Given the description of an element on the screen output the (x, y) to click on. 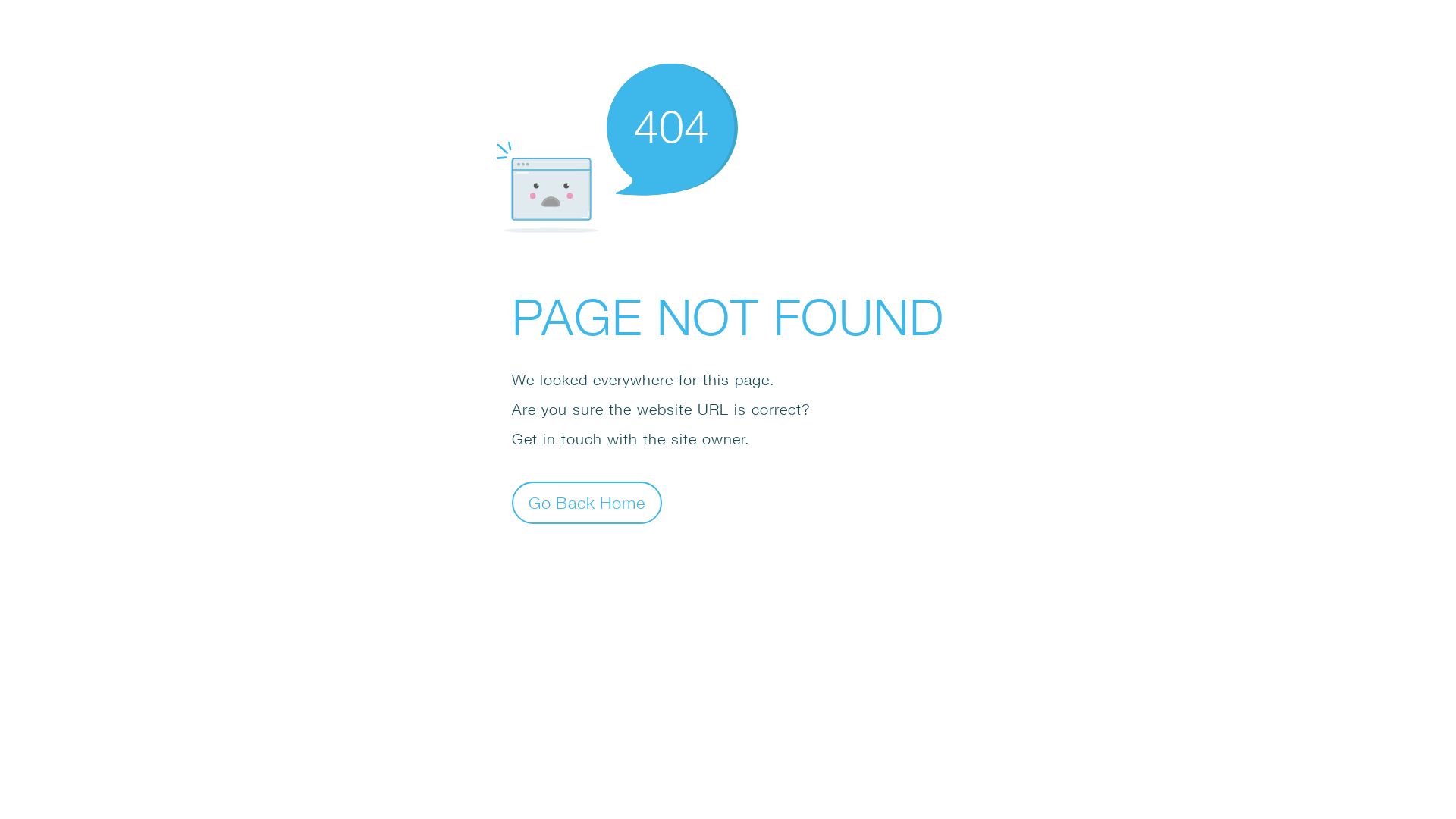
Go Back Home Element type: text (586, 502)
